Given the description of an element on the screen output the (x, y) to click on. 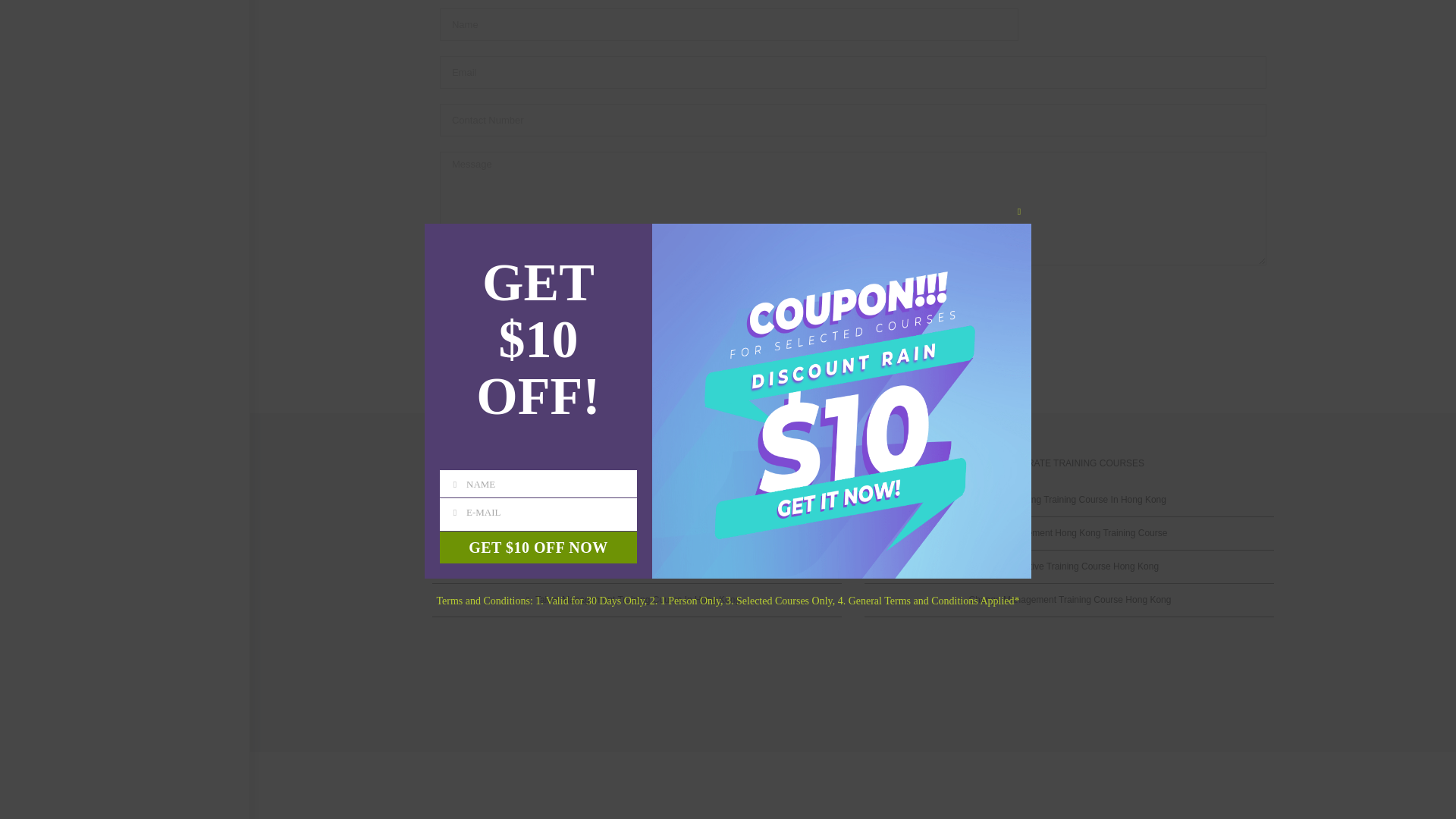
submit (467, 296)
